Given the description of an element on the screen output the (x, y) to click on. 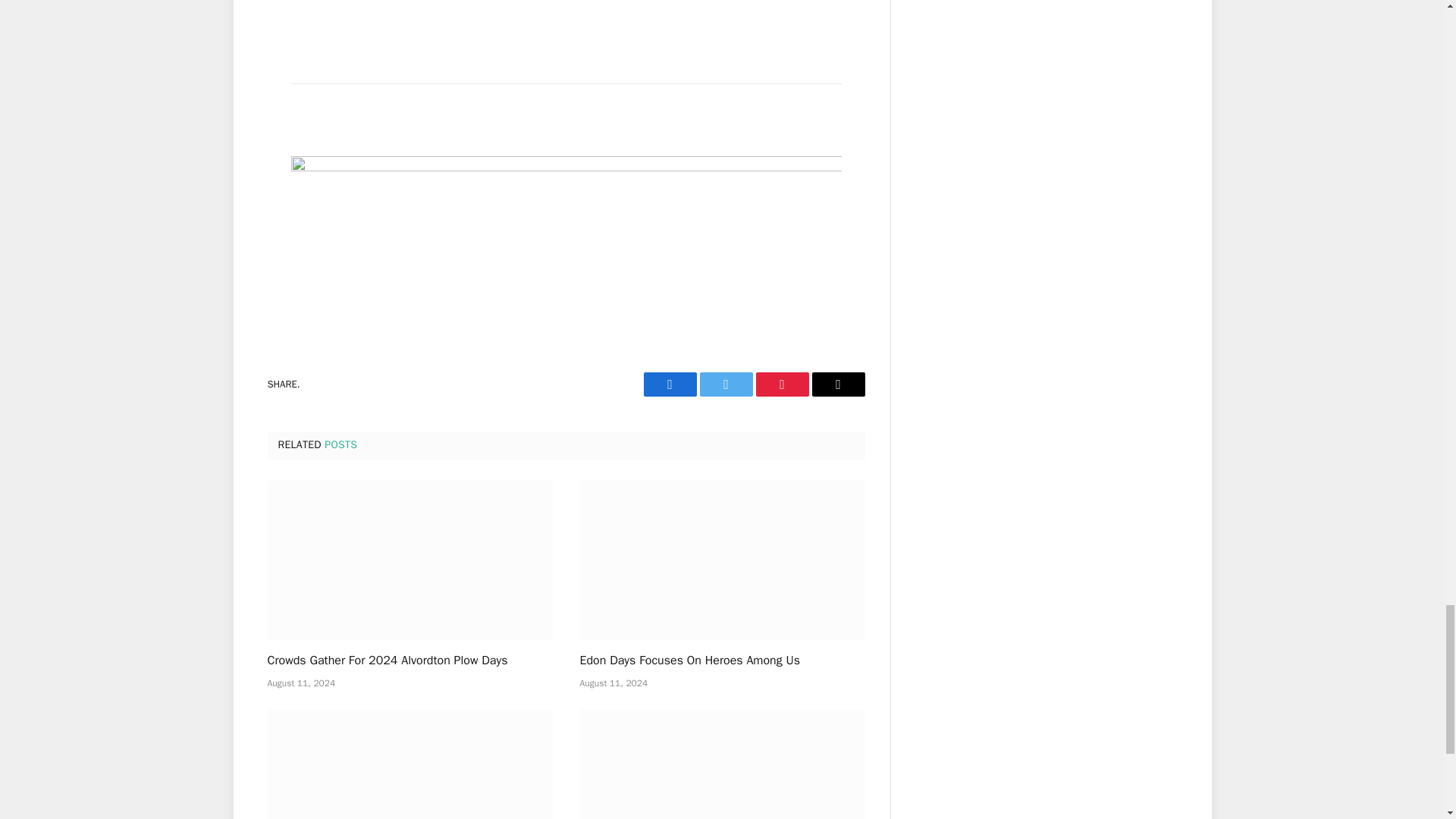
Share on Facebook (669, 384)
Share via Email (837, 384)
Crowds Gather For 2024 Alvordton Plow Days (408, 560)
Share on Pinterest (781, 384)
Edon Days Focuses On Heroes Among Us (721, 560)
Corn Festival Makes Its Return To Swanton (408, 764)
